Given the description of an element on the screen output the (x, y) to click on. 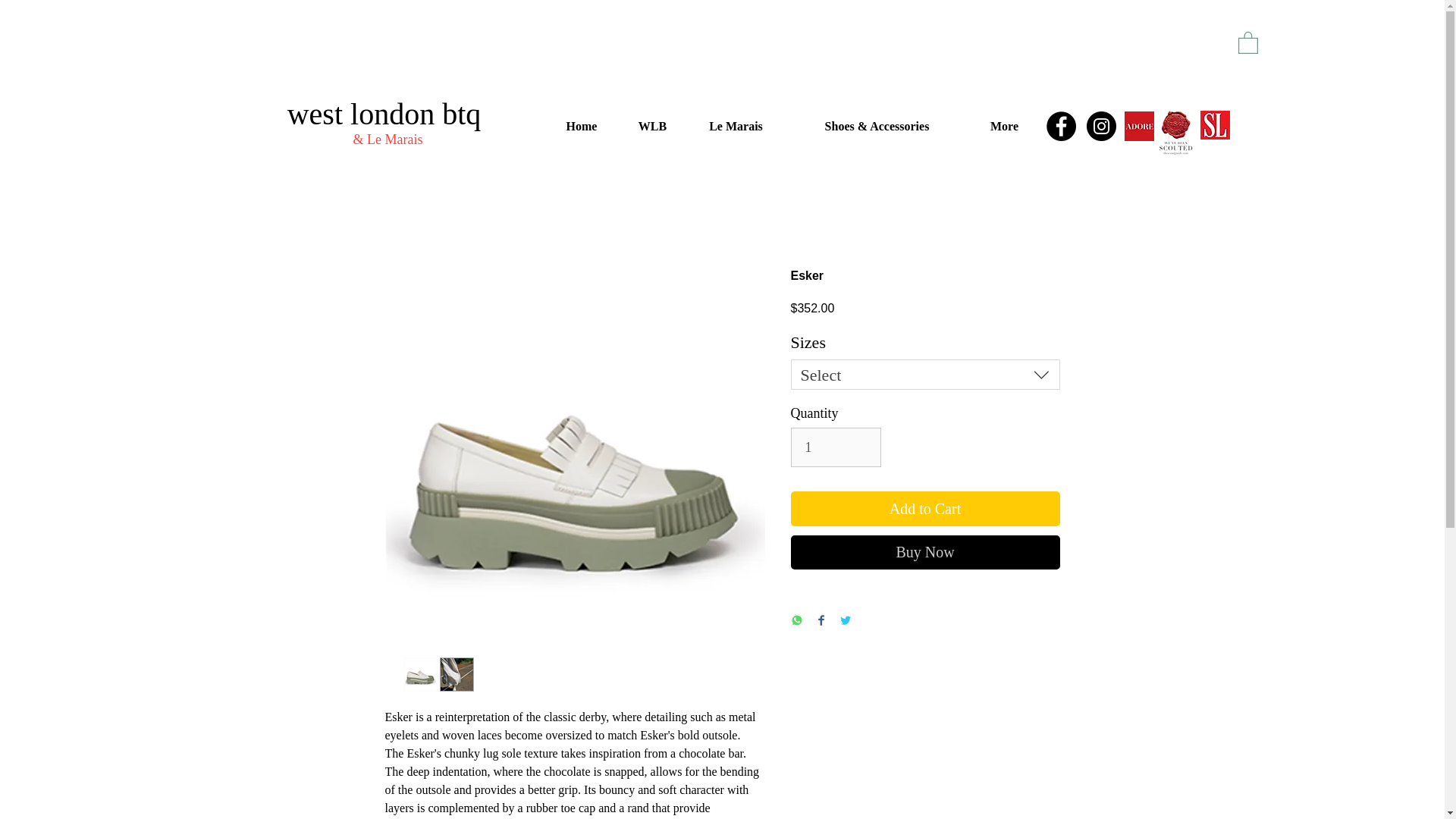
1 (835, 446)
Buy Now (924, 552)
Le Marais (736, 126)
Home (581, 126)
Select (924, 374)
Add to Cart (924, 508)
WLB (652, 126)
